Given the description of an element on the screen output the (x, y) to click on. 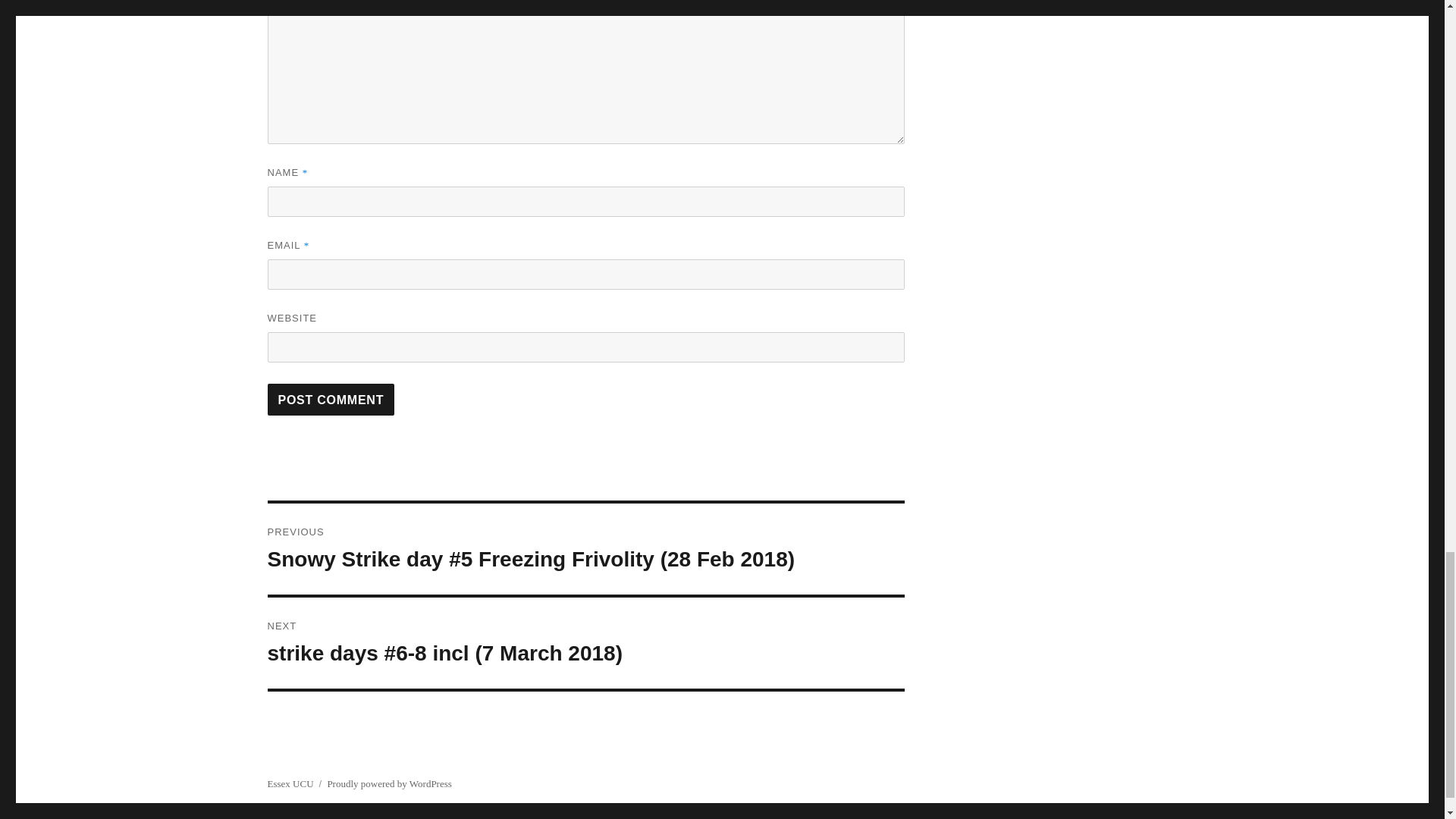
Post Comment (330, 399)
Post Comment (330, 399)
